Given the description of an element on the screen output the (x, y) to click on. 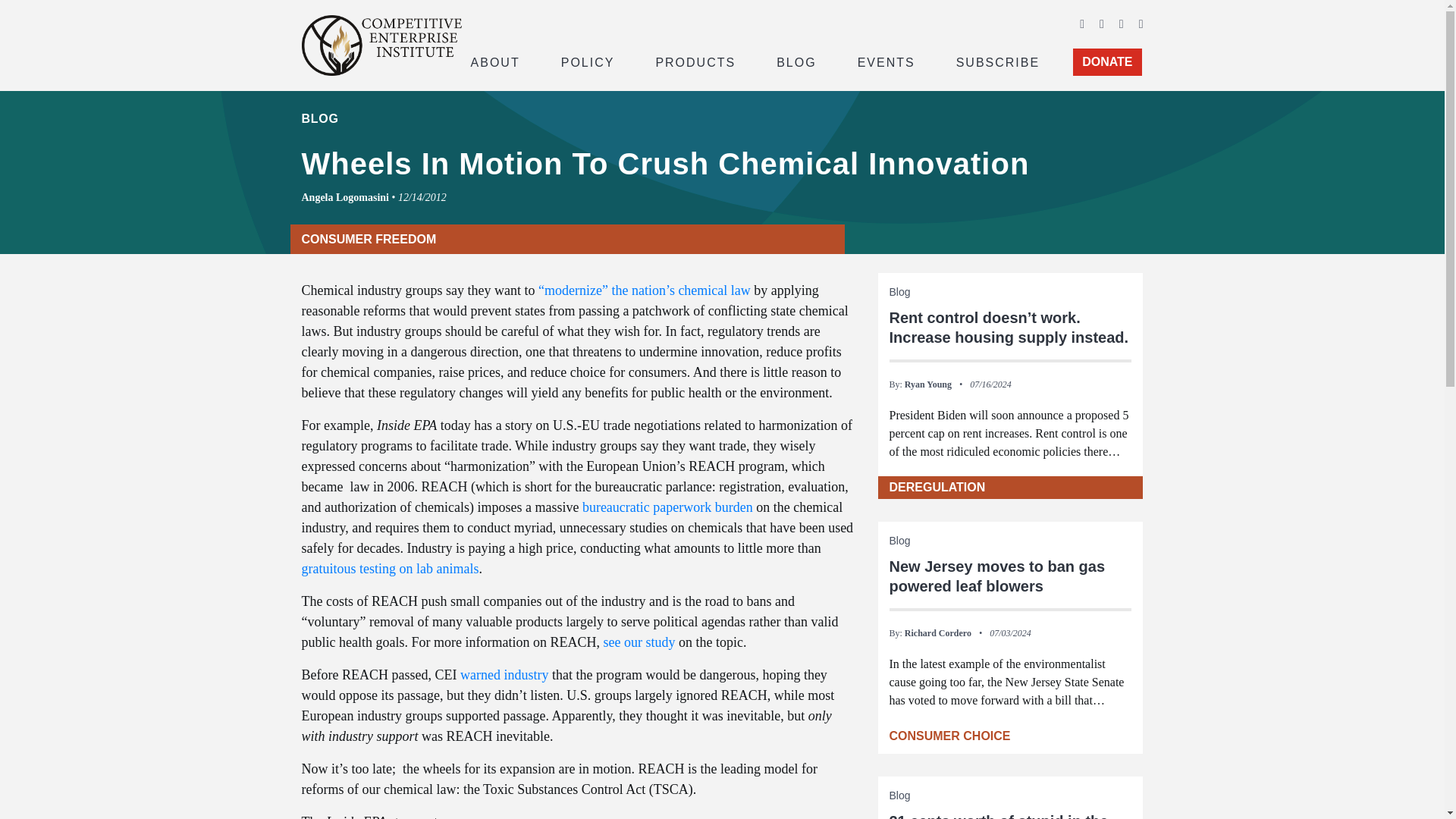
POLICY (588, 61)
PRODUCTS (694, 61)
BLOG (796, 61)
DONATE (1107, 62)
ABOUT (495, 61)
SUBSCRIBE (997, 61)
EVENTS (886, 61)
